Given the description of an element on the screen output the (x, y) to click on. 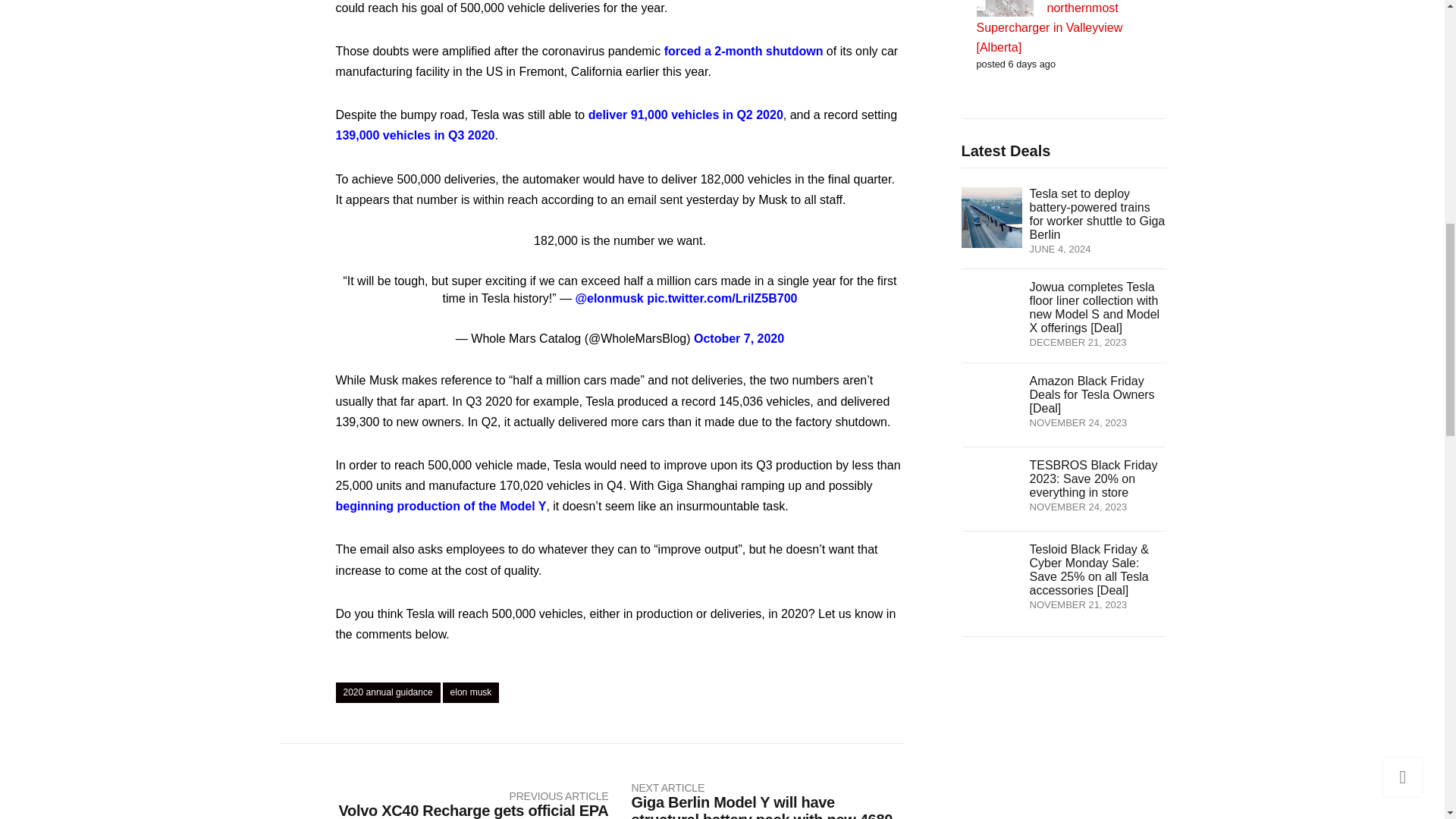
deliver 91,000 vehicles in Q2 2020 (685, 114)
October 7, 2020 (739, 338)
2020 annual guidance (386, 691)
forced a 2-month shutdown (743, 51)
139,000 vehicles in Q3 2020 (414, 134)
elon musk (470, 691)
beginning production of the Model Y (440, 505)
